Given the description of an element on the screen output the (x, y) to click on. 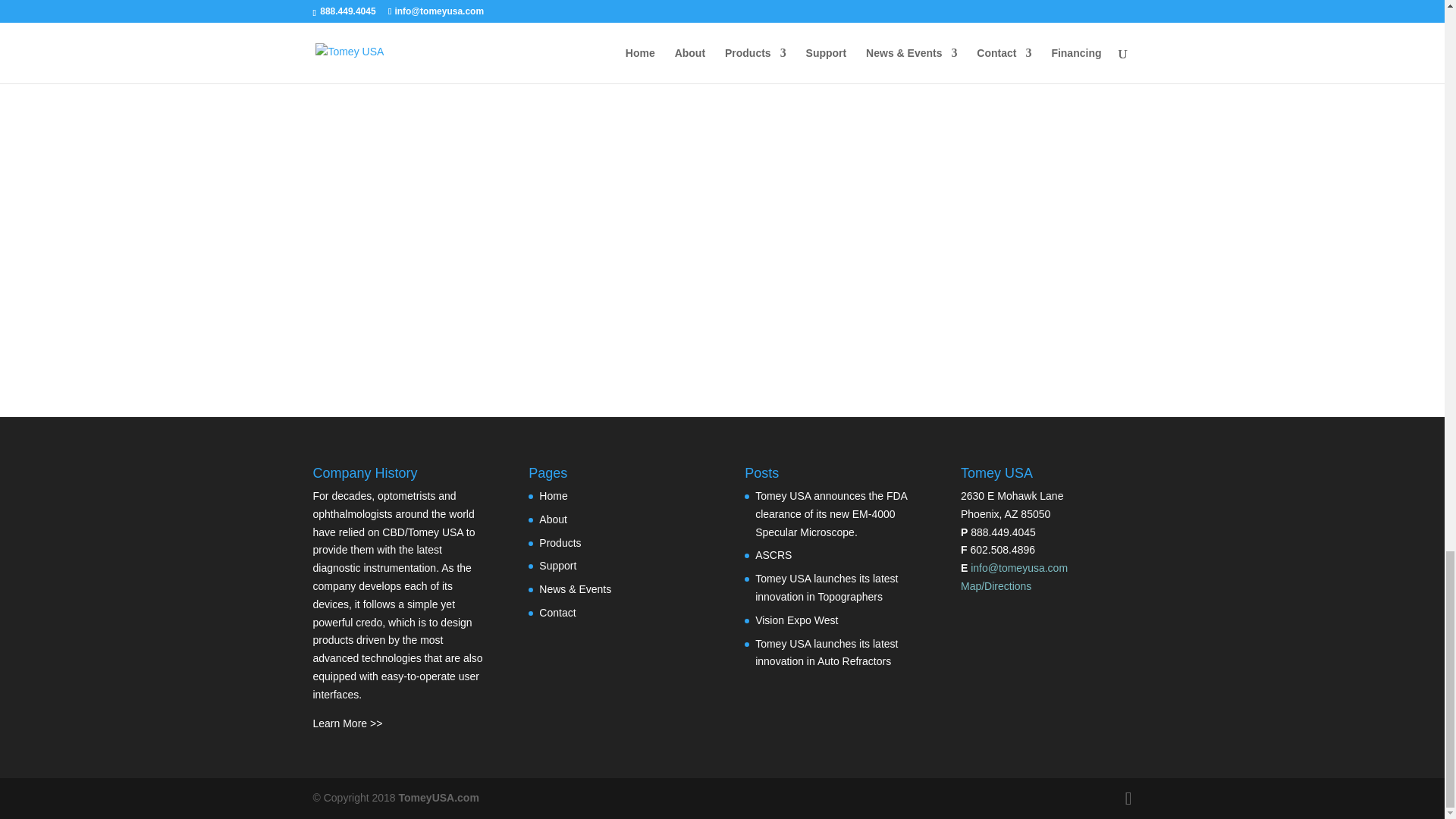
Home (552, 495)
Support (557, 565)
Products (559, 542)
About (552, 519)
Request A Quote (721, 311)
